Given the description of an element on the screen output the (x, y) to click on. 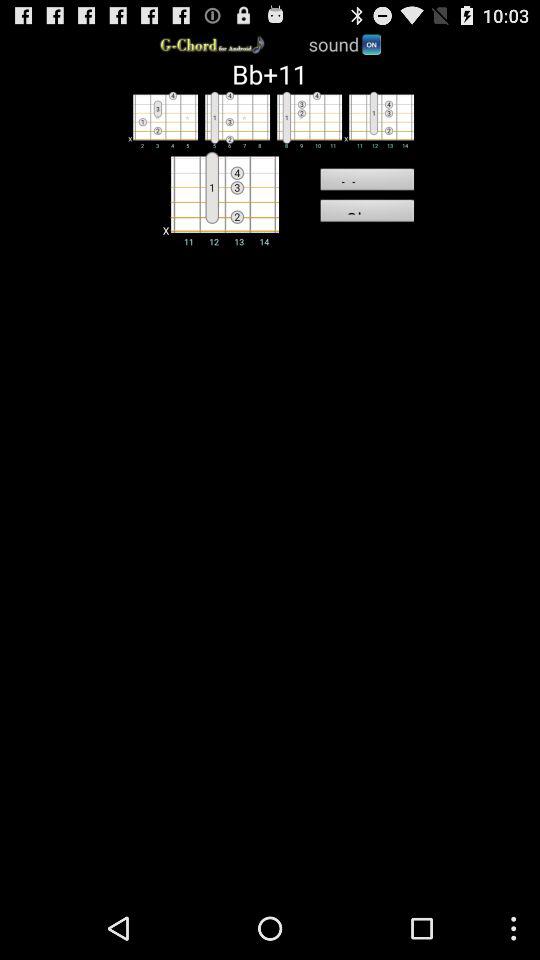
select chord (234, 119)
